Given the description of an element on the screen output the (x, y) to click on. 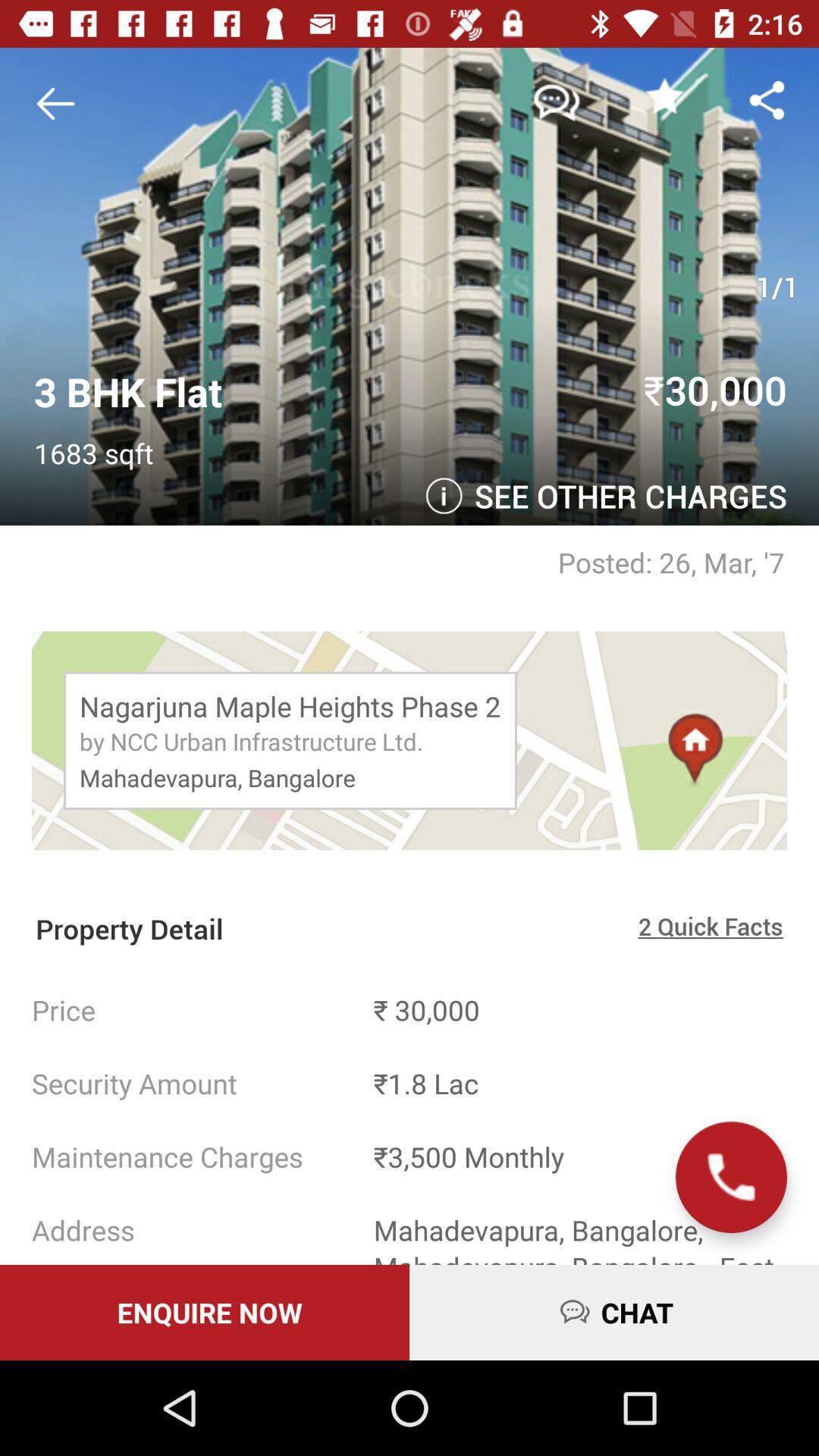
go back (60, 103)
